Given the description of an element on the screen output the (x, y) to click on. 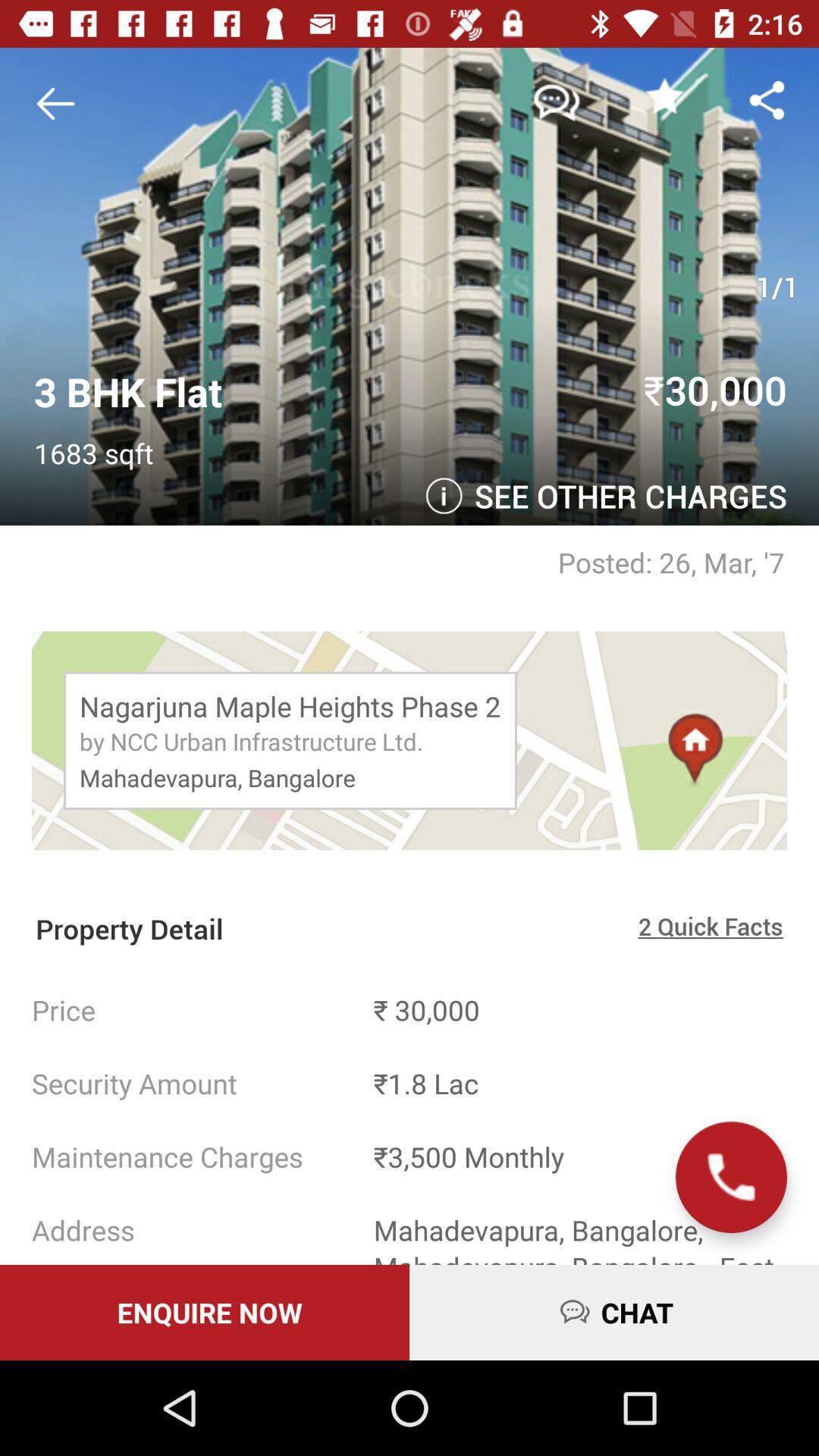
go back (60, 103)
